Given the description of an element on the screen output the (x, y) to click on. 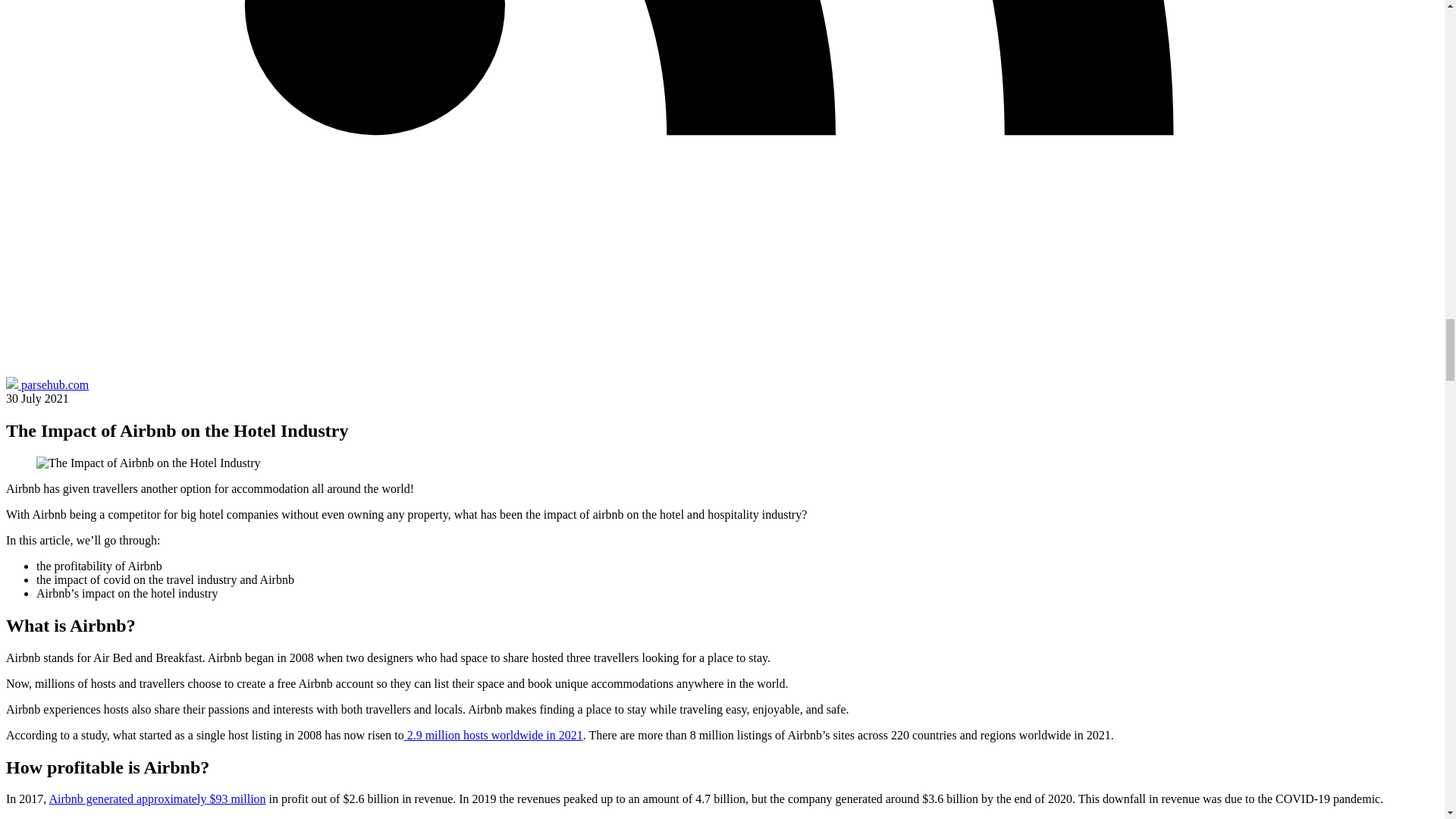
2.9 million hosts worldwide in 2021 (493, 735)
